Given the description of an element on the screen output the (x, y) to click on. 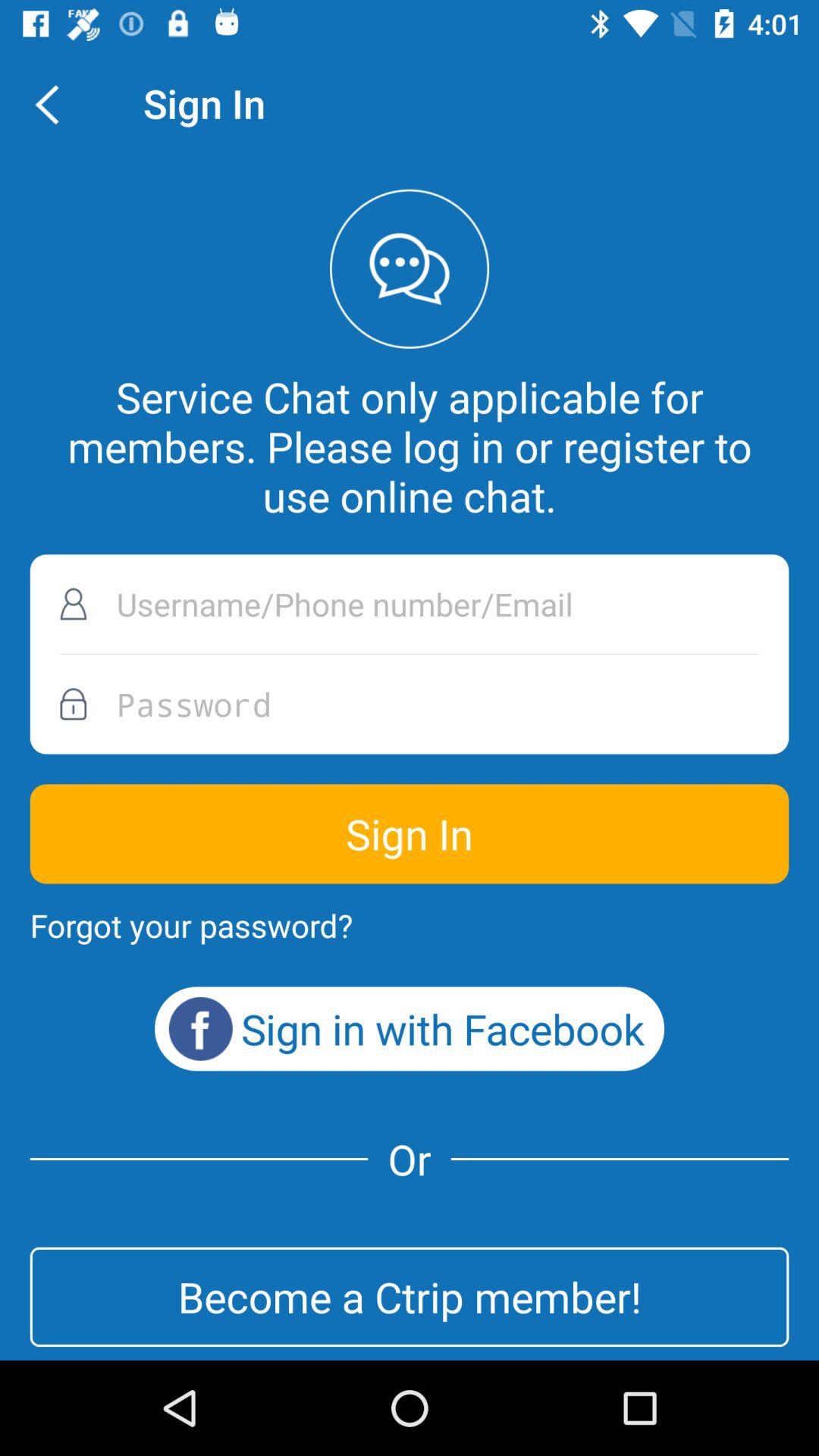
open forgot your password? on the left (191, 924)
